Given the description of an element on the screen output the (x, y) to click on. 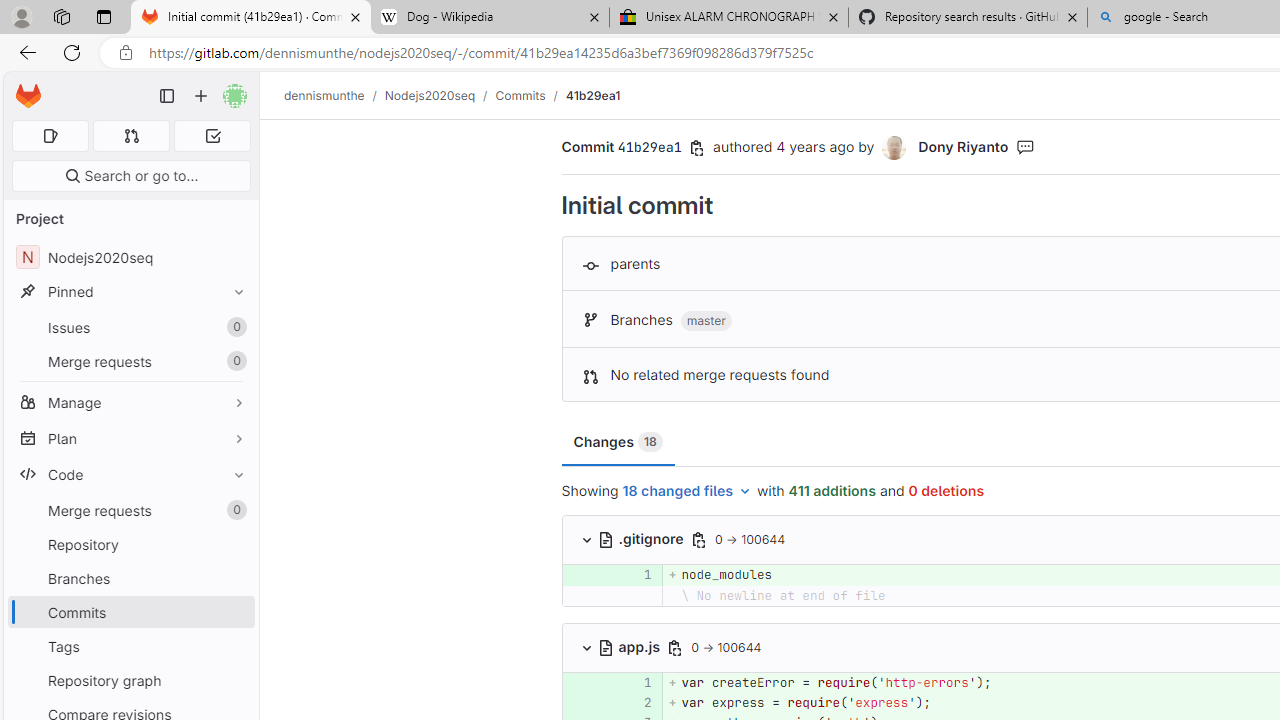
Assigned issues 0 (50, 136)
N Nodejs2020seq (130, 257)
Dog - Wikipedia (490, 17)
Create new... (201, 96)
Class: s16 (605, 647)
41b29ea1 (592, 95)
Pin Branches (234, 578)
Pin Repository graph (234, 680)
master (705, 321)
Tags (130, 646)
Issues 0 (130, 327)
1 (637, 681)
